Given the description of an element on the screen output the (x, y) to click on. 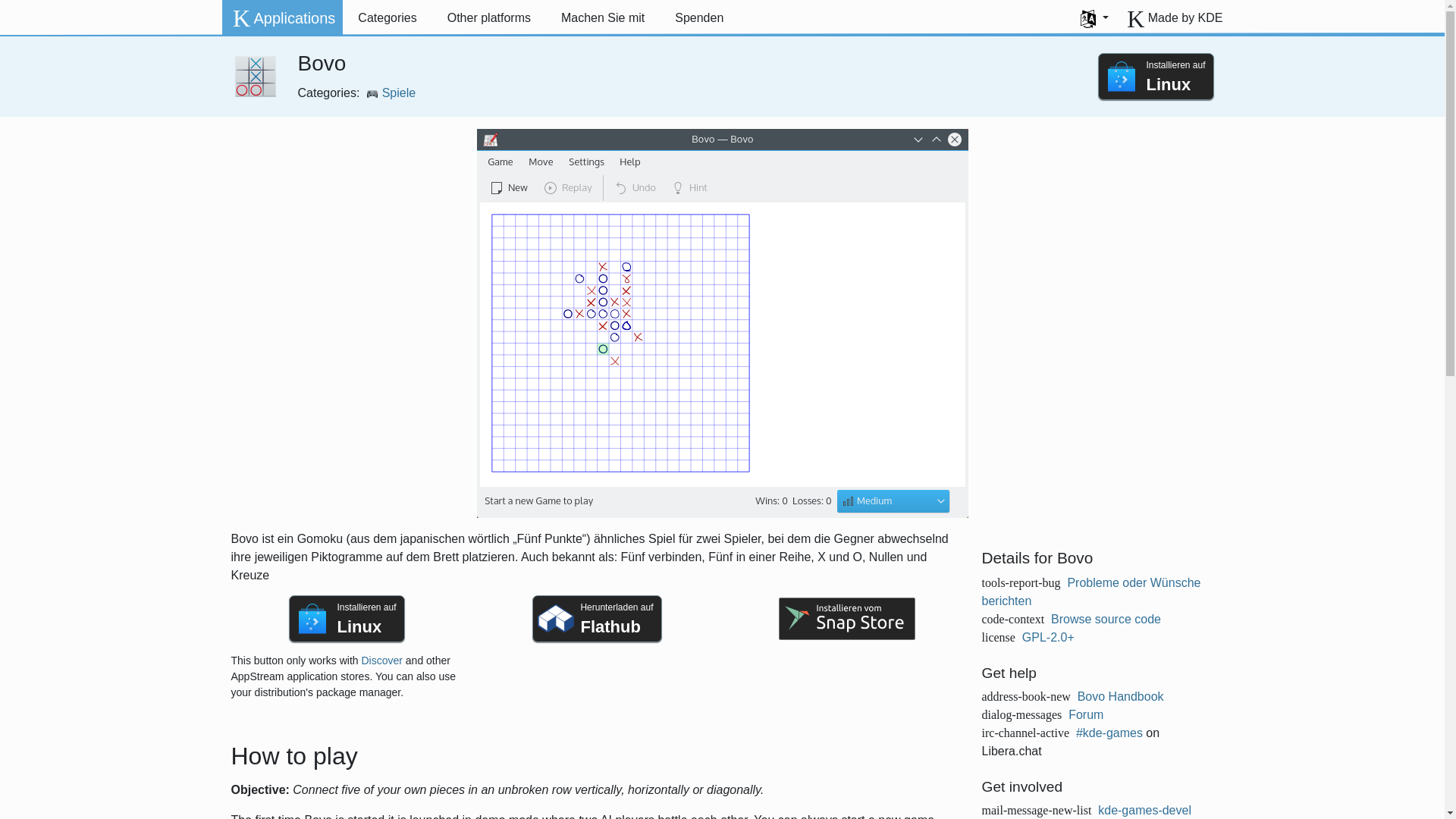
Categories (386, 18)
Other platforms (489, 18)
Spenden (698, 18)
Machen Sie mit (281, 18)
